Given the description of an element on the screen output the (x, y) to click on. 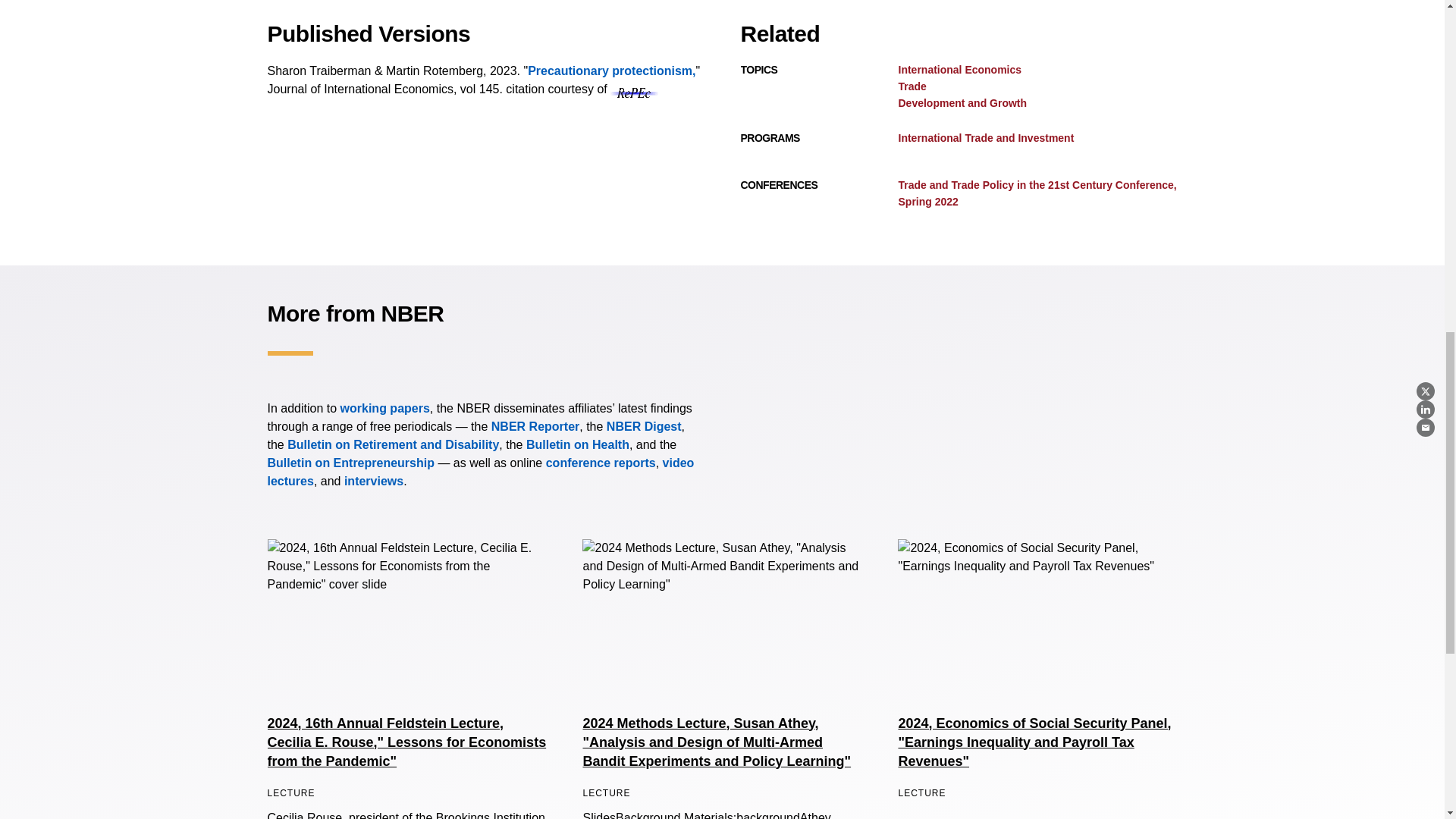
Conferences (601, 462)
Research Spotlights (373, 481)
Working Papers (384, 408)
Lectures (480, 471)
